Given the description of an element on the screen output the (x, y) to click on. 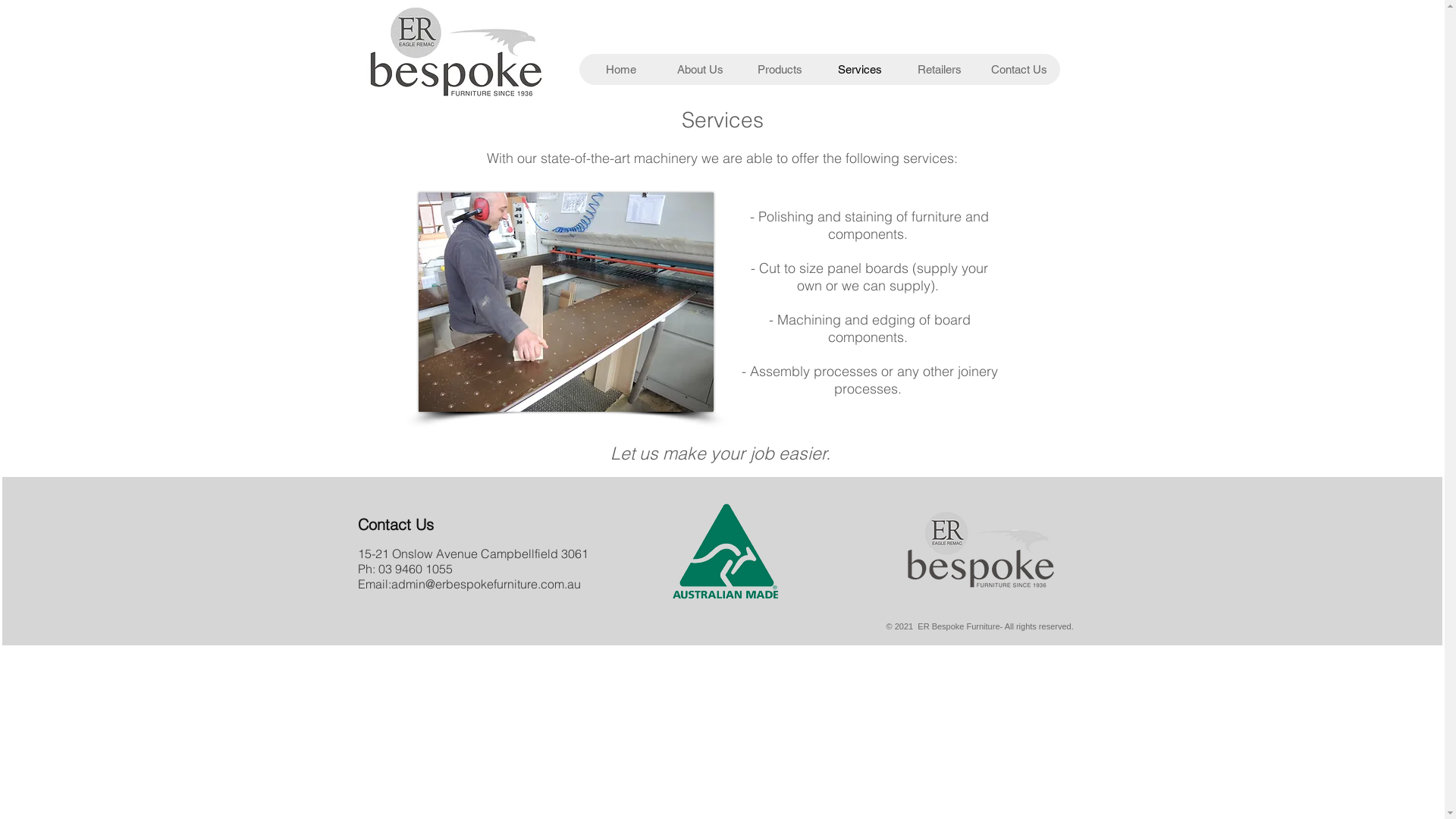
Services Element type: text (858, 68)
Products Element type: text (779, 68)
Retailers Element type: text (939, 68)
Home Element type: text (620, 68)
About Us Element type: text (699, 68)
admin@erbespokefurniture.com.au Element type: text (485, 583)
Contact Us Element type: text (1017, 68)
